Given the description of an element on the screen output the (x, y) to click on. 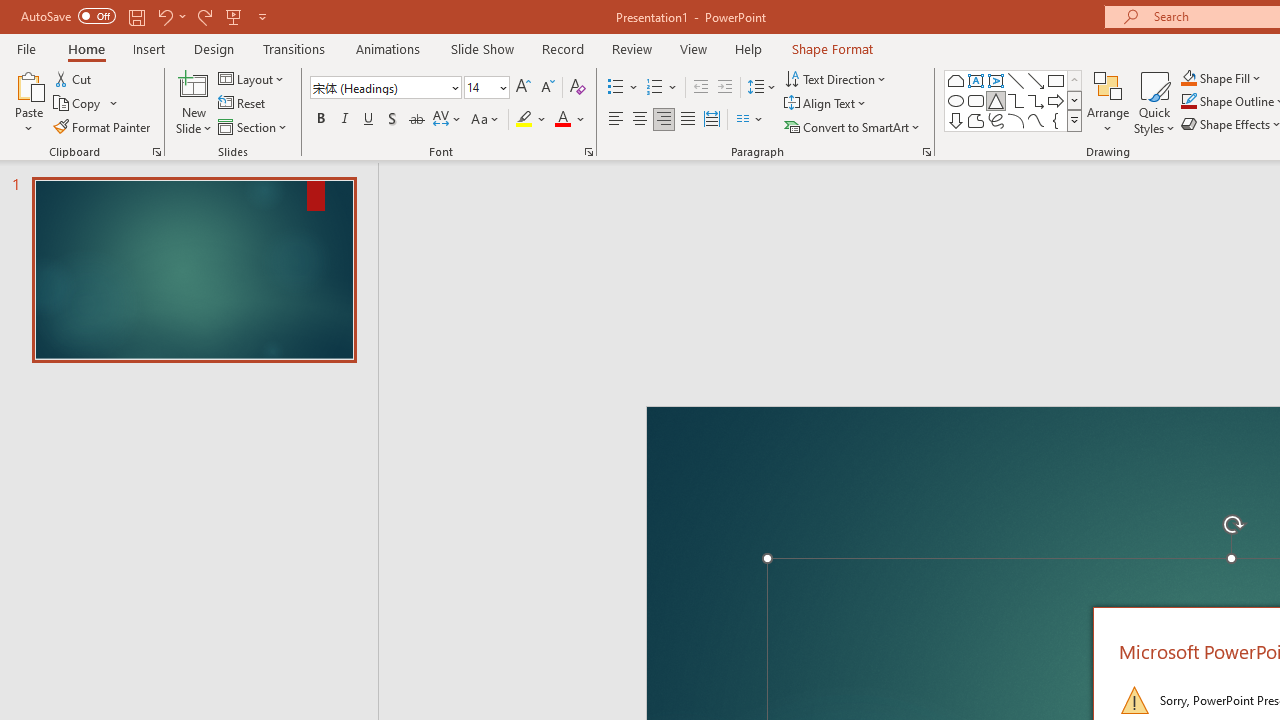
Warning Icon (1134, 699)
